Given the description of an element on the screen output the (x, y) to click on. 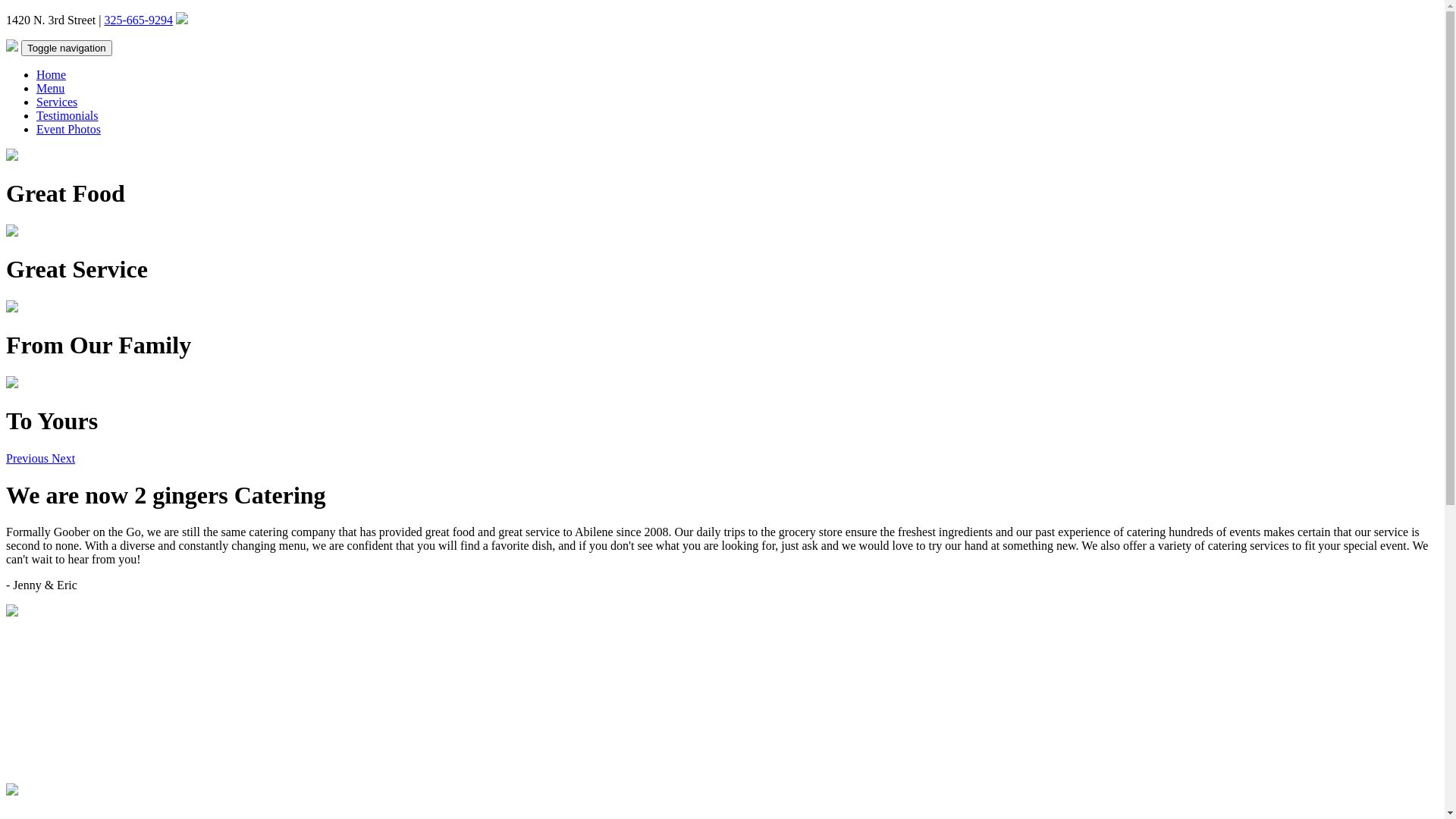
Testimonials Element type: text (67, 115)
Toggle navigation Element type: text (66, 48)
Previous Element type: text (28, 457)
Menu Element type: text (50, 87)
Next Element type: text (63, 457)
Services Element type: text (56, 101)
Home Element type: text (50, 74)
Event Photos Element type: text (68, 128)
325-665-9294 Element type: text (137, 19)
